Given the description of an element on the screen output the (x, y) to click on. 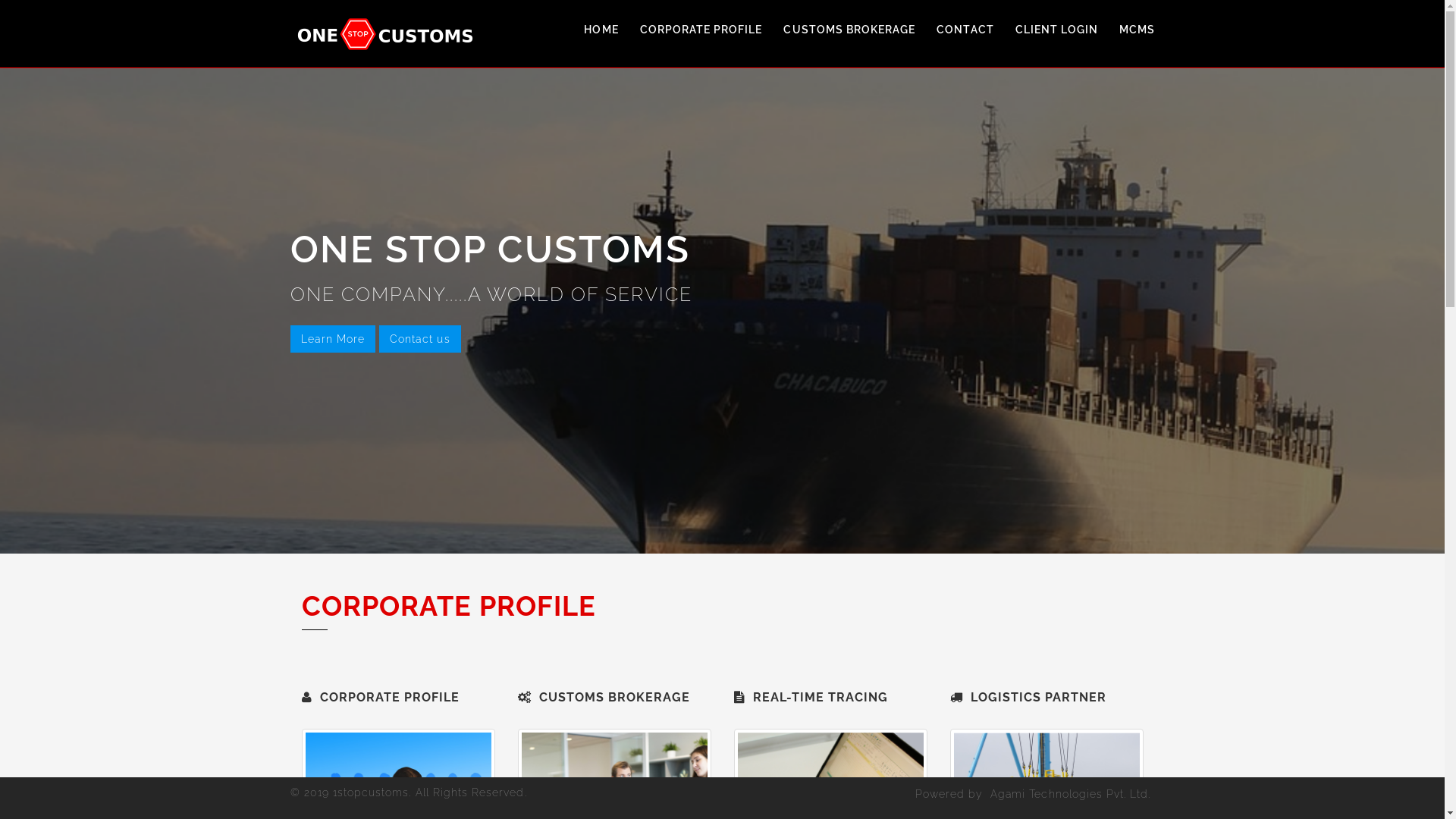
CLIENT LOGIN Element type: text (1056, 29)
HOME Element type: text (600, 29)
1stopcustoms Element type: text (370, 792)
CUSTOMS BROKERAGE Element type: text (849, 29)
CORPORATE PROFILE Element type: text (701, 29)
MCMS Element type: text (1136, 29)
Contact us Element type: text (420, 338)
Learn More Element type: text (332, 338)
Agami Technologies Pvt. Ltd. Element type: text (1070, 793)
CONTACT Element type: text (964, 29)
